Given the description of an element on the screen output the (x, y) to click on. 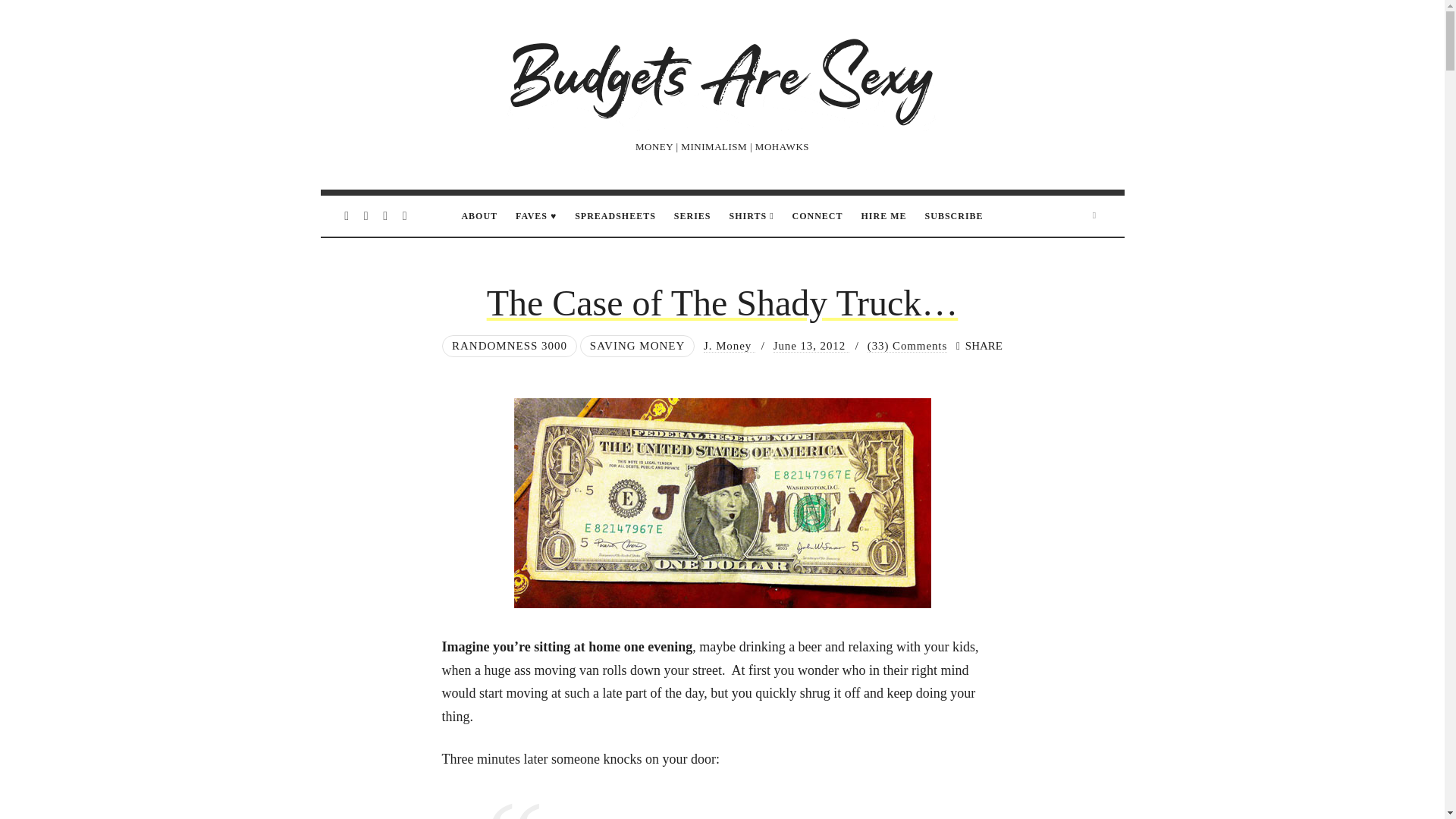
SPREADSHEETS (615, 215)
Budgets Are Sexy (721, 79)
SERIES (692, 215)
